Given the description of an element on the screen output the (x, y) to click on. 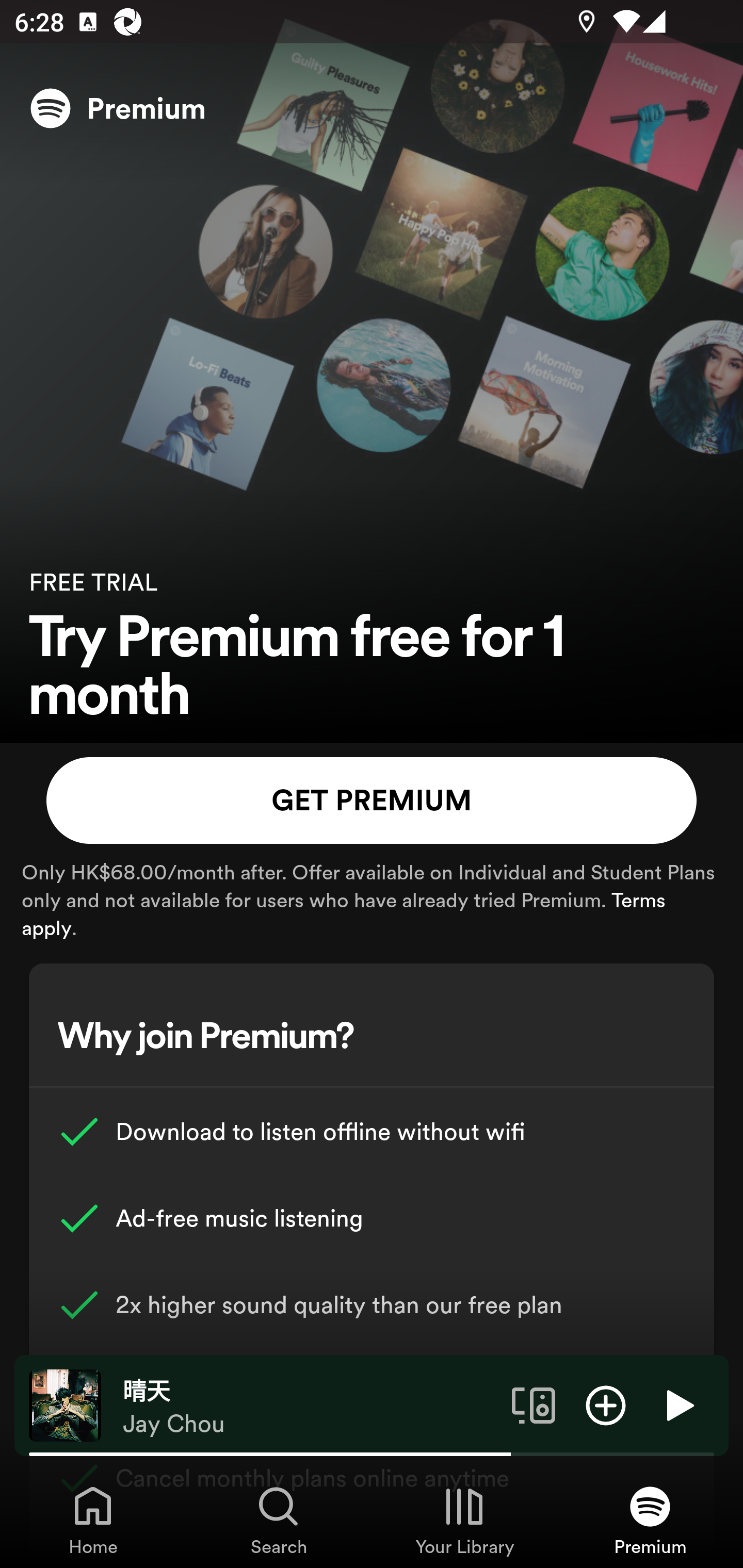
GET PREMIUM (371, 800)
晴天 Jay Chou (309, 1405)
The cover art of the currently playing track (64, 1404)
Connect to a device. Opens the devices menu (533, 1404)
Add item (605, 1404)
Play (677, 1404)
Home, Tab 1 of 4 Home Home (92, 1519)
Search, Tab 2 of 4 Search Search (278, 1519)
Your Library, Tab 3 of 4 Your Library Your Library (464, 1519)
Premium, Tab 4 of 4 Premium Premium (650, 1519)
